Given the description of an element on the screen output the (x, y) to click on. 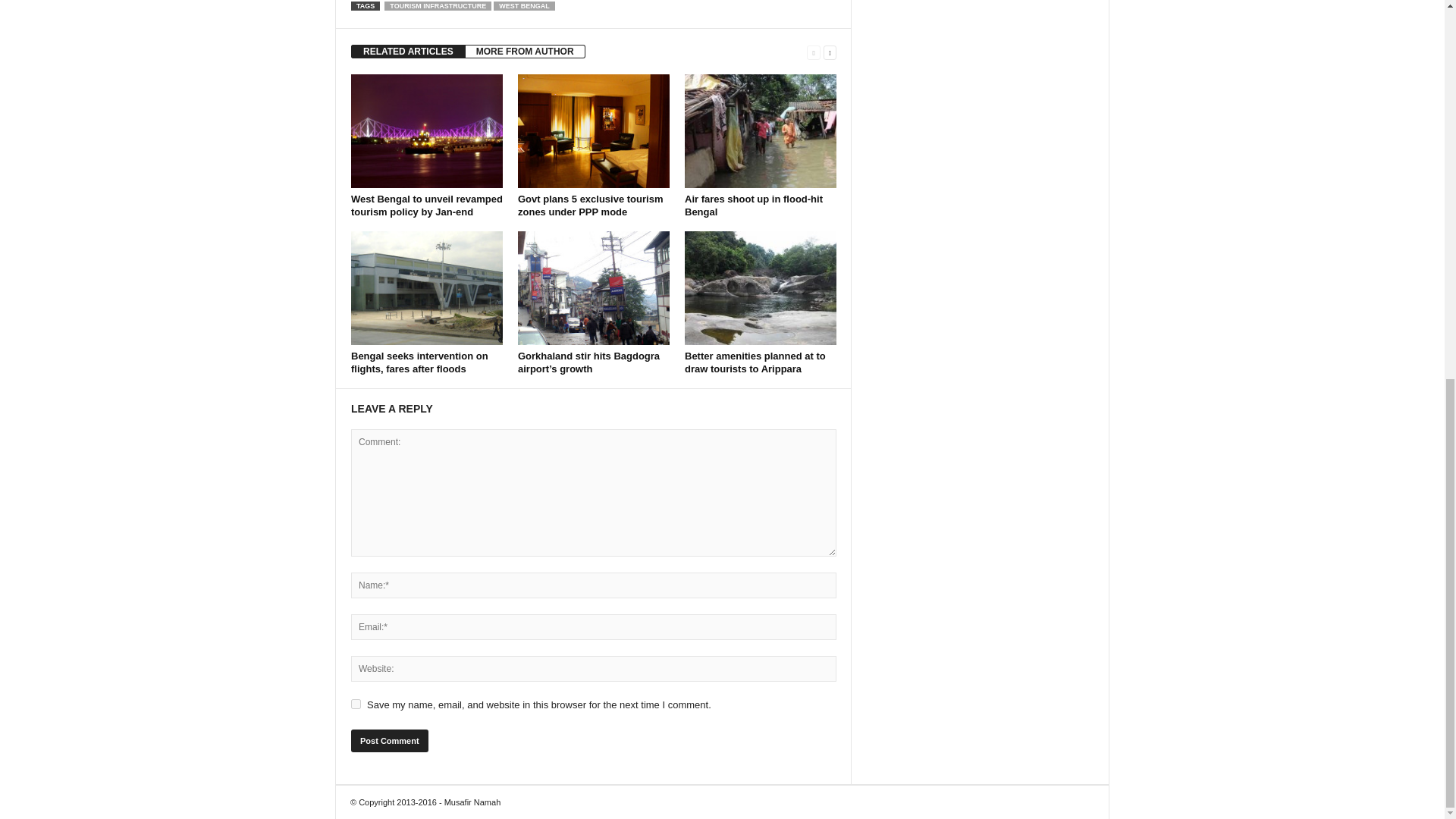
Post Comment (389, 740)
yes (355, 704)
